Given the description of an element on the screen output the (x, y) to click on. 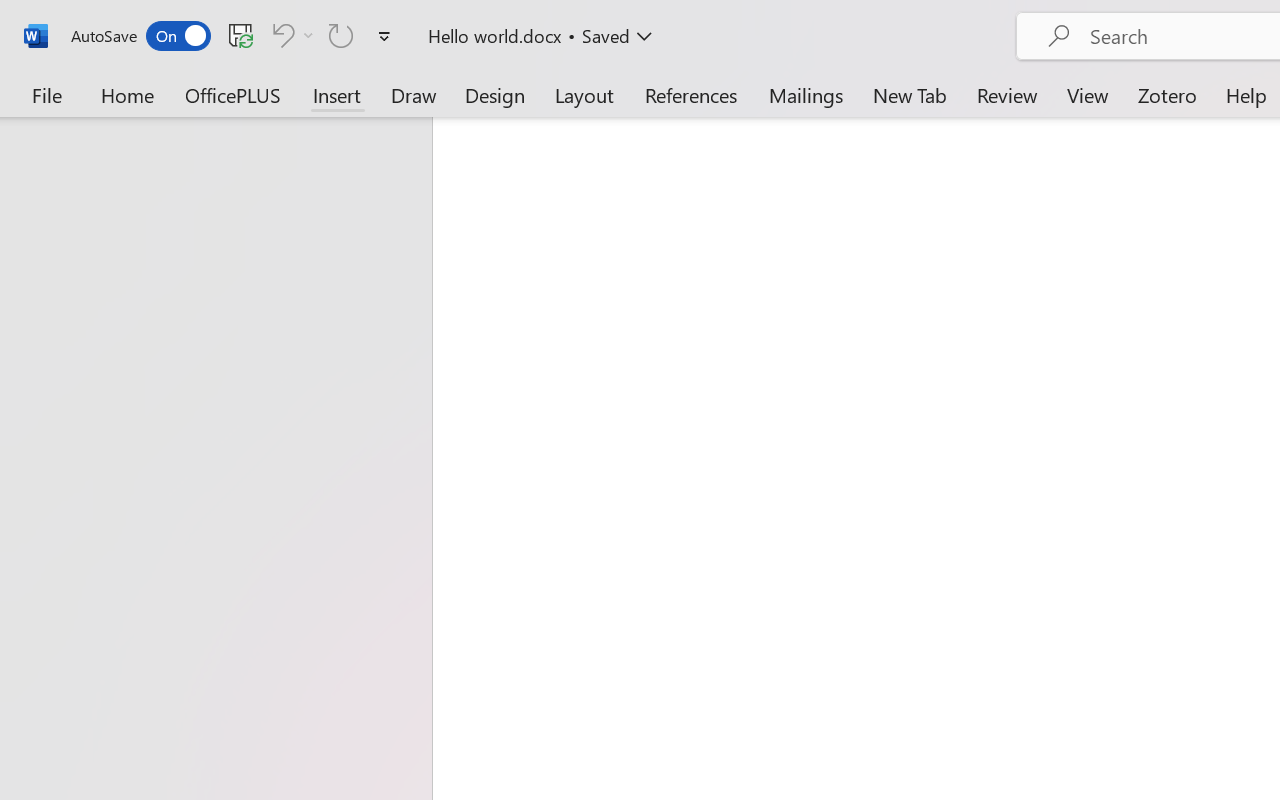
Mailings (806, 94)
Save (241, 35)
Can't Repeat (341, 35)
Quick Access Toolbar (233, 36)
Layout (584, 94)
More Options (308, 35)
Insert (337, 94)
OfficePLUS (233, 94)
Draw (413, 94)
Can't Undo (290, 35)
Home (127, 94)
New Tab (909, 94)
